Given the description of an element on the screen output the (x, y) to click on. 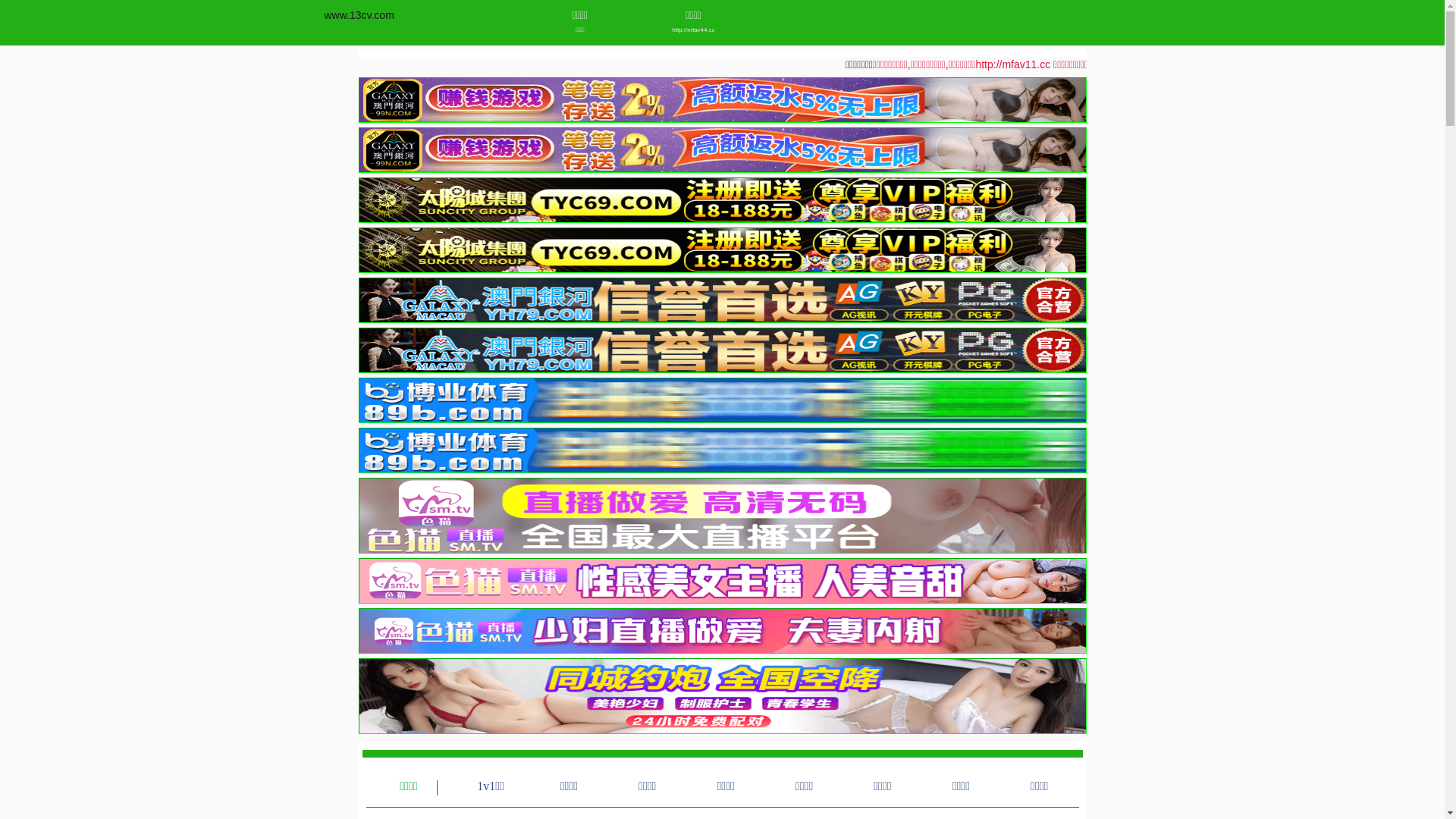
www.13cv.com Element type: text (359, 15)
http://mfav44.cc Element type: text (693, 29)
